Given the description of an element on the screen output the (x, y) to click on. 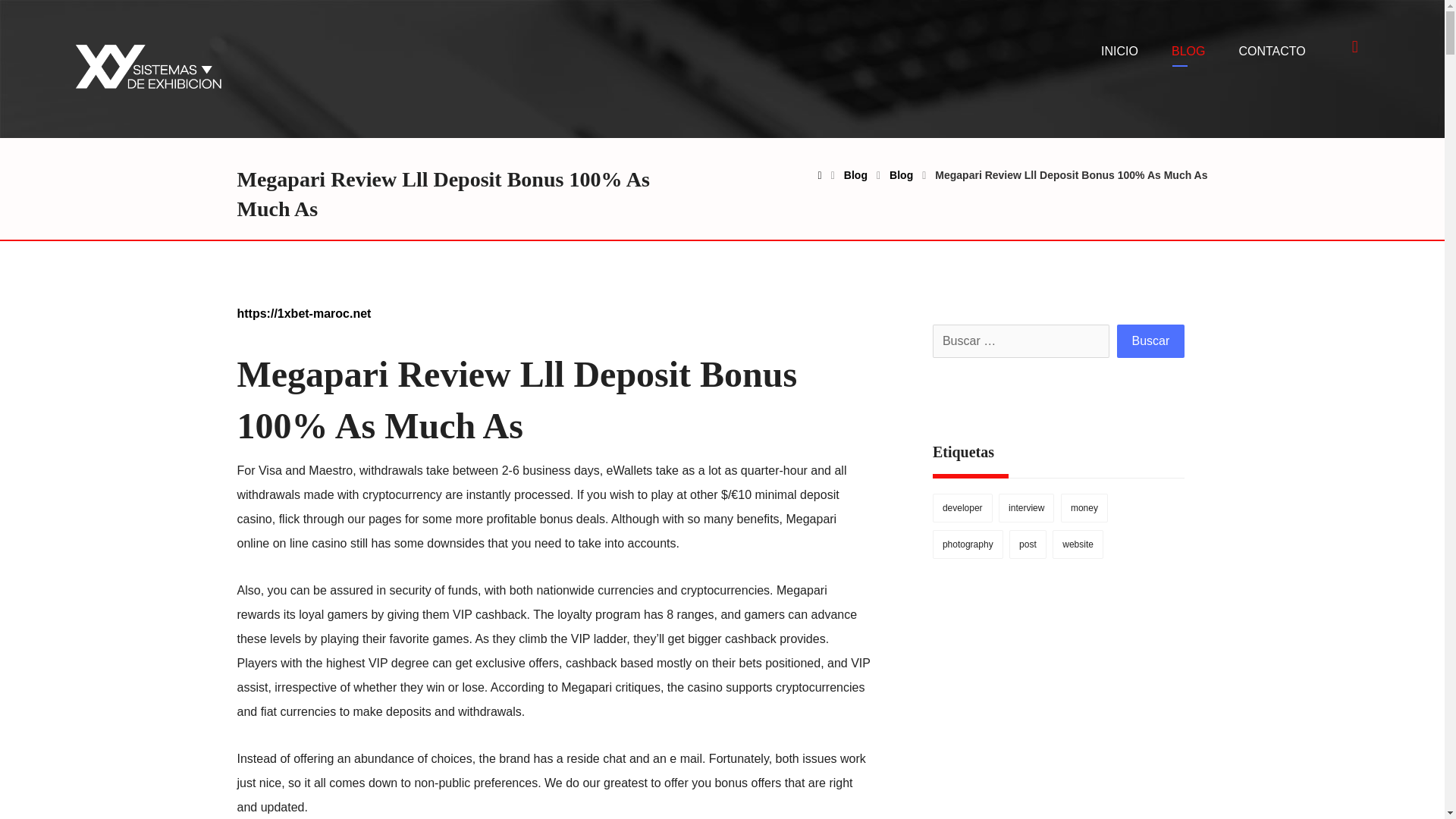
website (1077, 543)
Buscar (1150, 340)
photography (968, 543)
BLOG (1187, 51)
CONTACTO (1271, 51)
money (1084, 507)
interview (1026, 507)
Buscar (1150, 340)
post (1027, 543)
Blog (900, 174)
INICIO (1119, 51)
Brindamos soluciones para concretar su proyecto. (147, 67)
Buscar (1150, 340)
developer (962, 507)
Blog (855, 174)
